Given the description of an element on the screen output the (x, y) to click on. 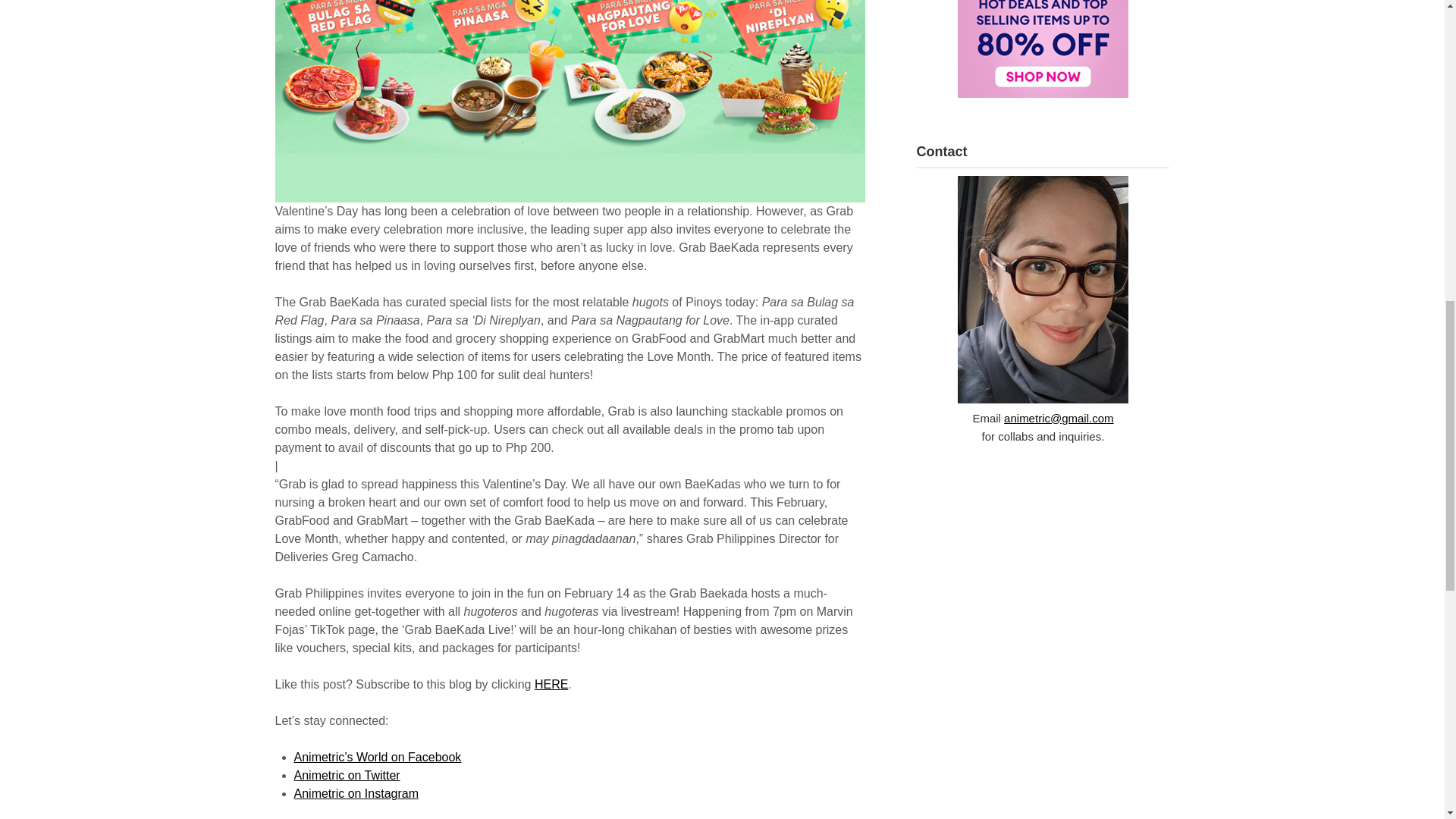
HERE (550, 684)
Animetric on Instagram (356, 793)
Animetric on Twitter (347, 775)
